Given the description of an element on the screen output the (x, y) to click on. 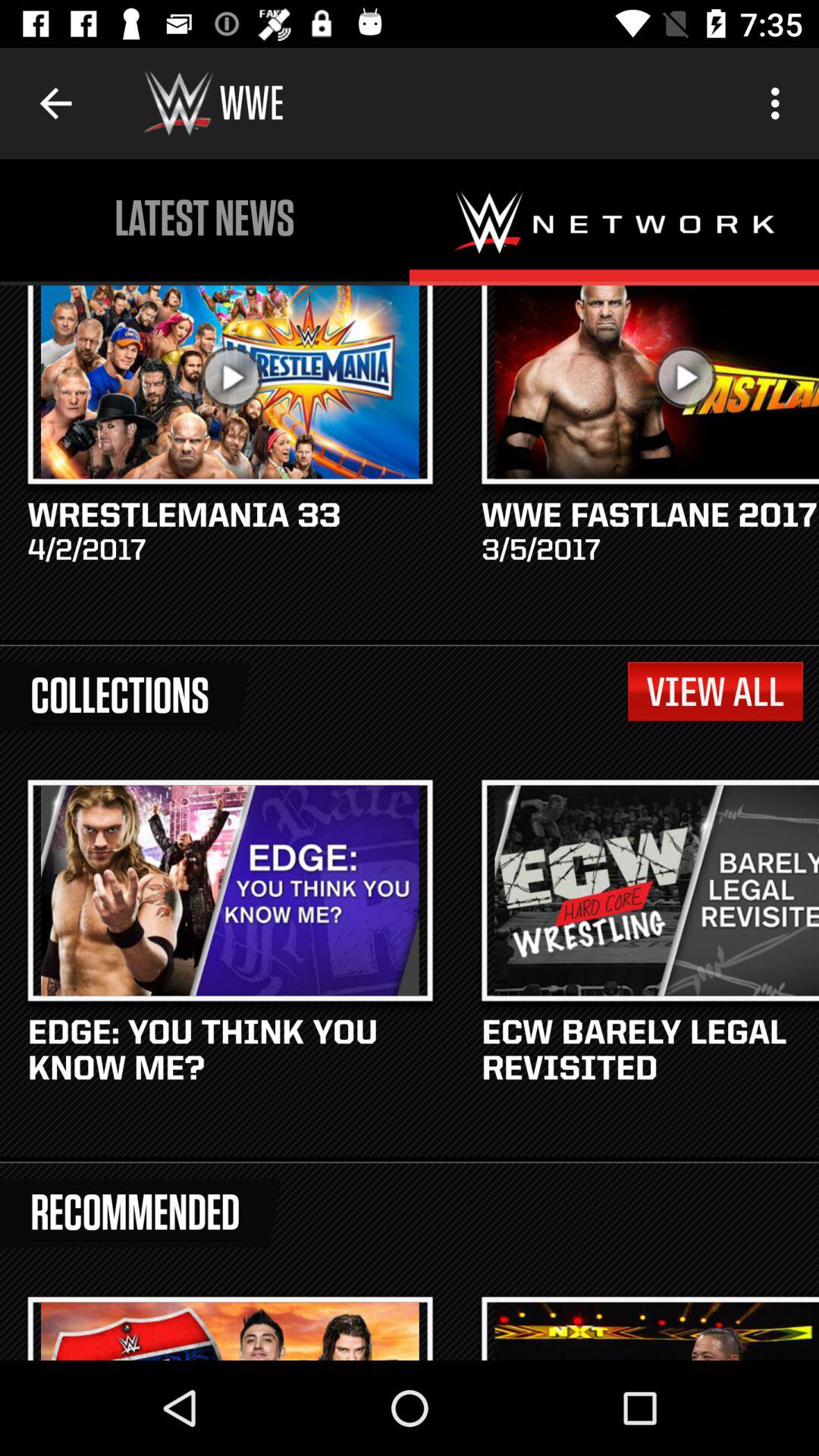
open icon to the right of collections item (715, 691)
